Given the description of an element on the screen output the (x, y) to click on. 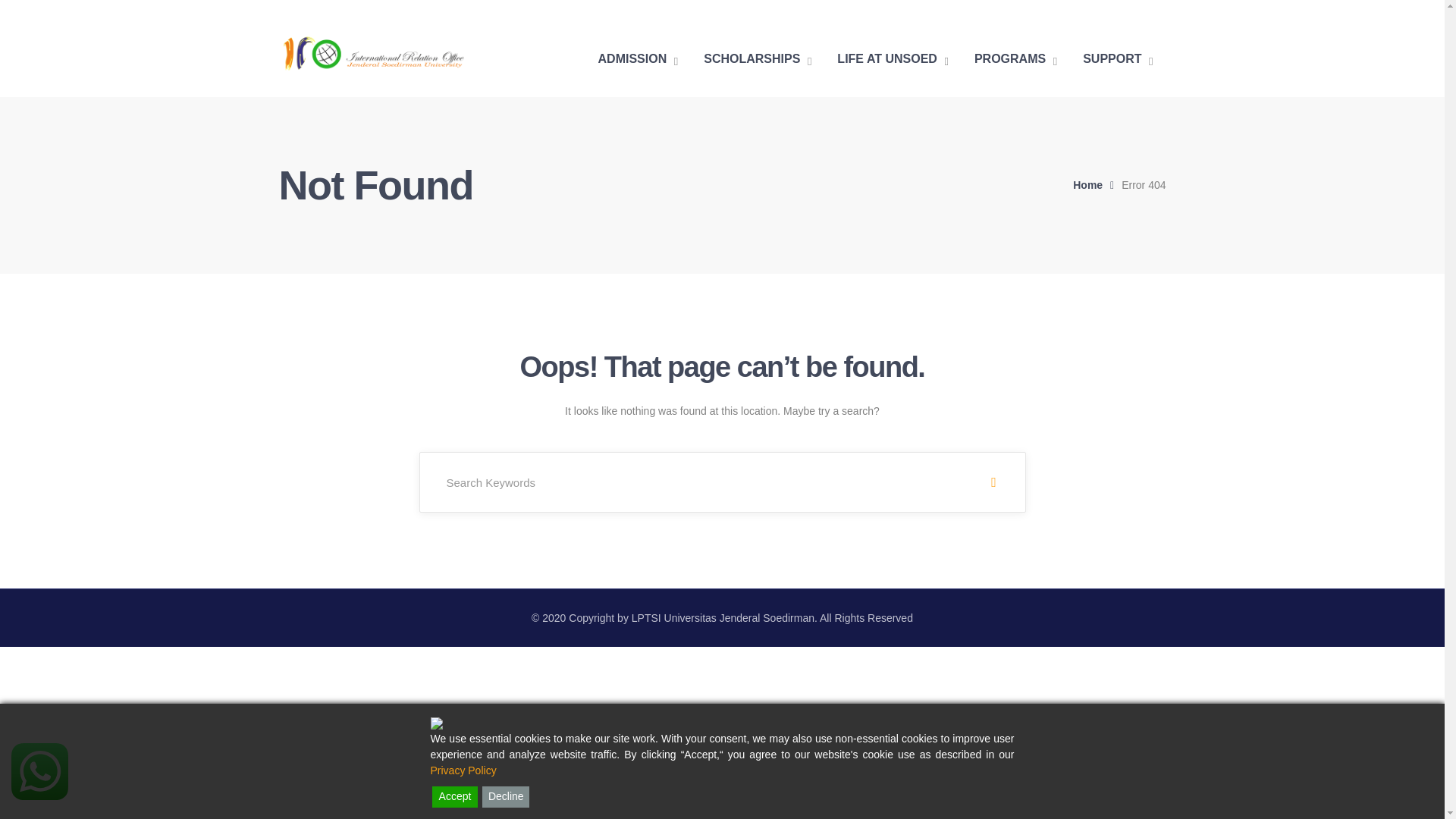
ADMISSION (638, 59)
PROGRAMS (1015, 59)
SUPPORT (1118, 59)
Home (1097, 184)
SEARCH (993, 482)
SCHOLARSHIPS (756, 59)
Search (993, 482)
International Relation Office (373, 51)
LIFE AT UNSOED (893, 59)
Search for: (721, 482)
